Given the description of an element on the screen output the (x, y) to click on. 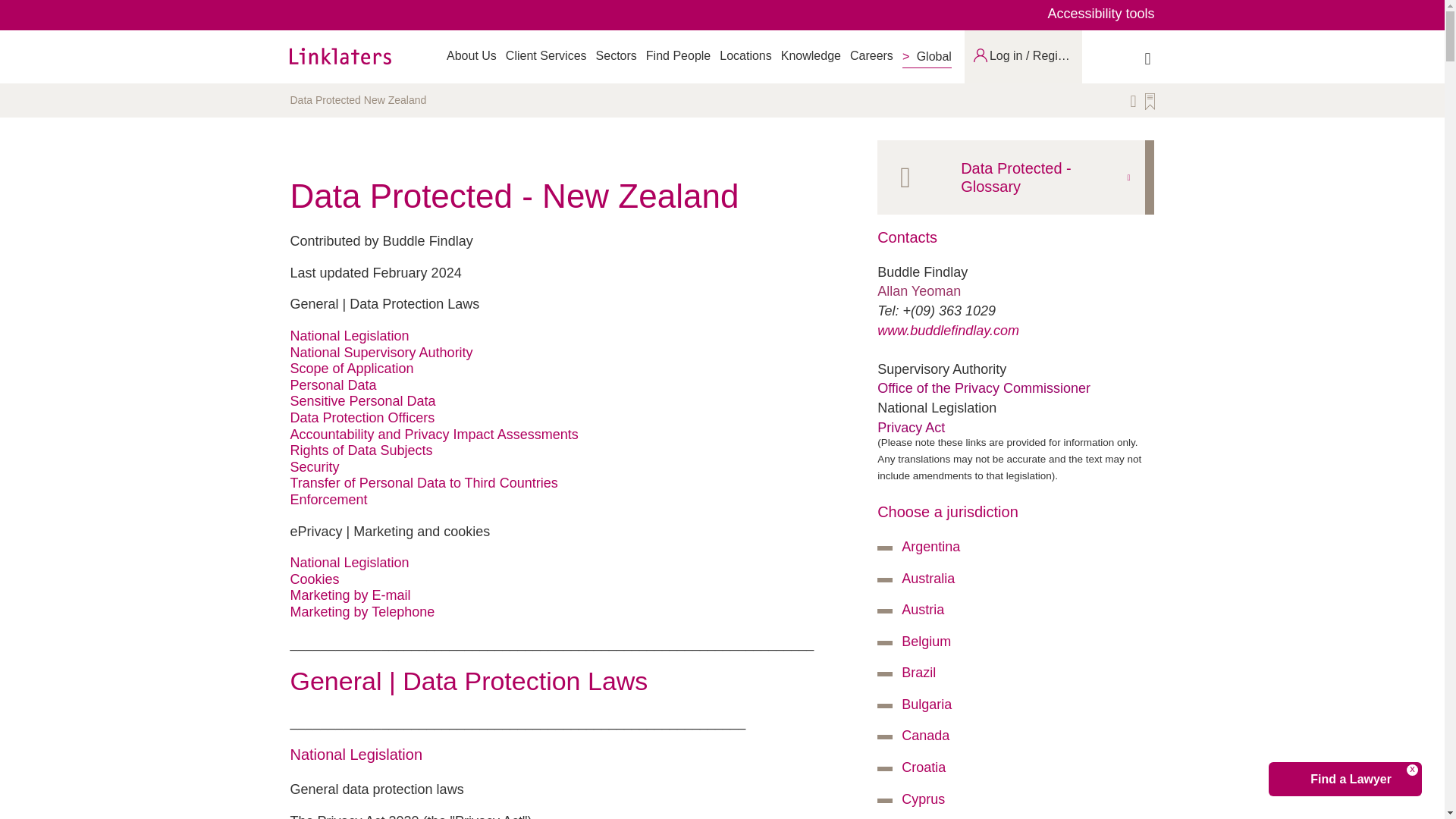
Client Services (545, 55)
Careers (871, 55)
data protected glossary (1010, 177)
Find People (678, 55)
Knowledge (810, 55)
About Us (471, 55)
Locations (745, 55)
Sectors (616, 55)
